Given the description of an element on the screen output the (x, y) to click on. 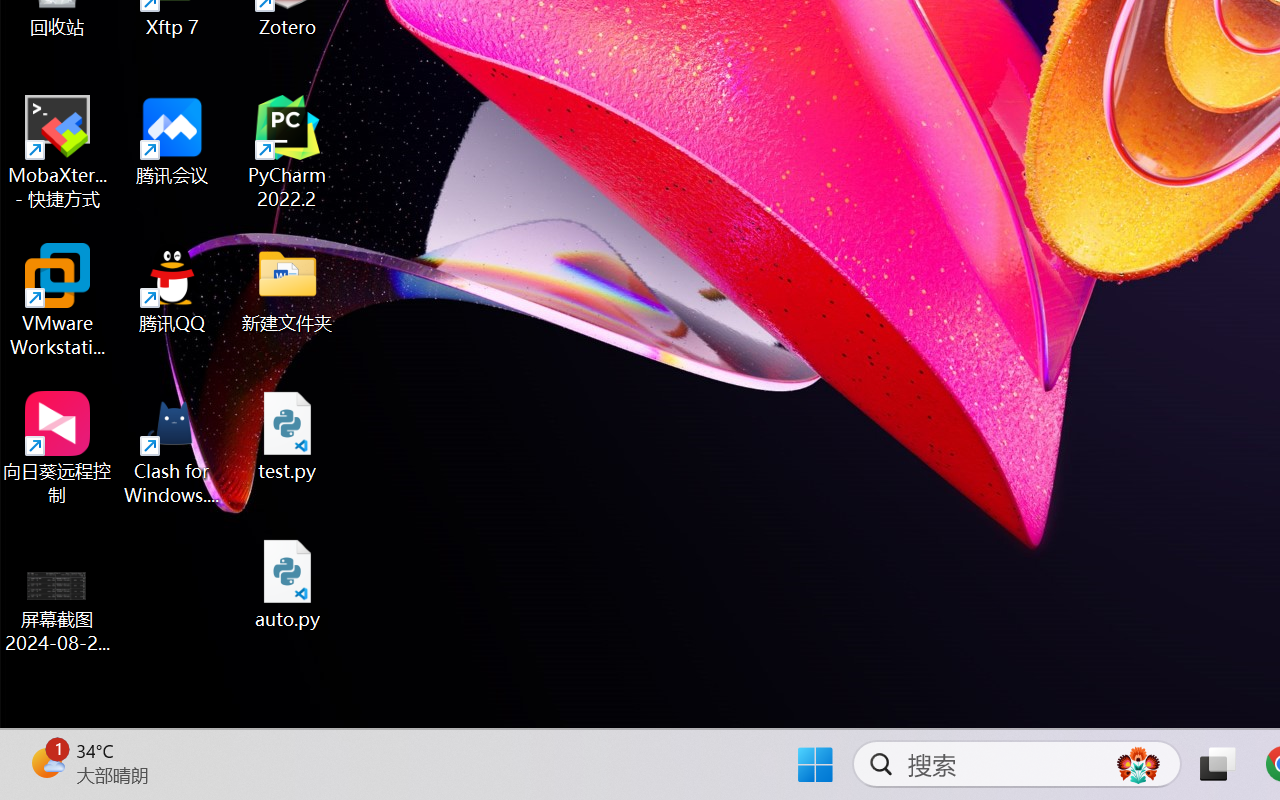
auto.py (287, 584)
PyCharm 2022.2 (287, 152)
